Given the description of an element on the screen output the (x, y) to click on. 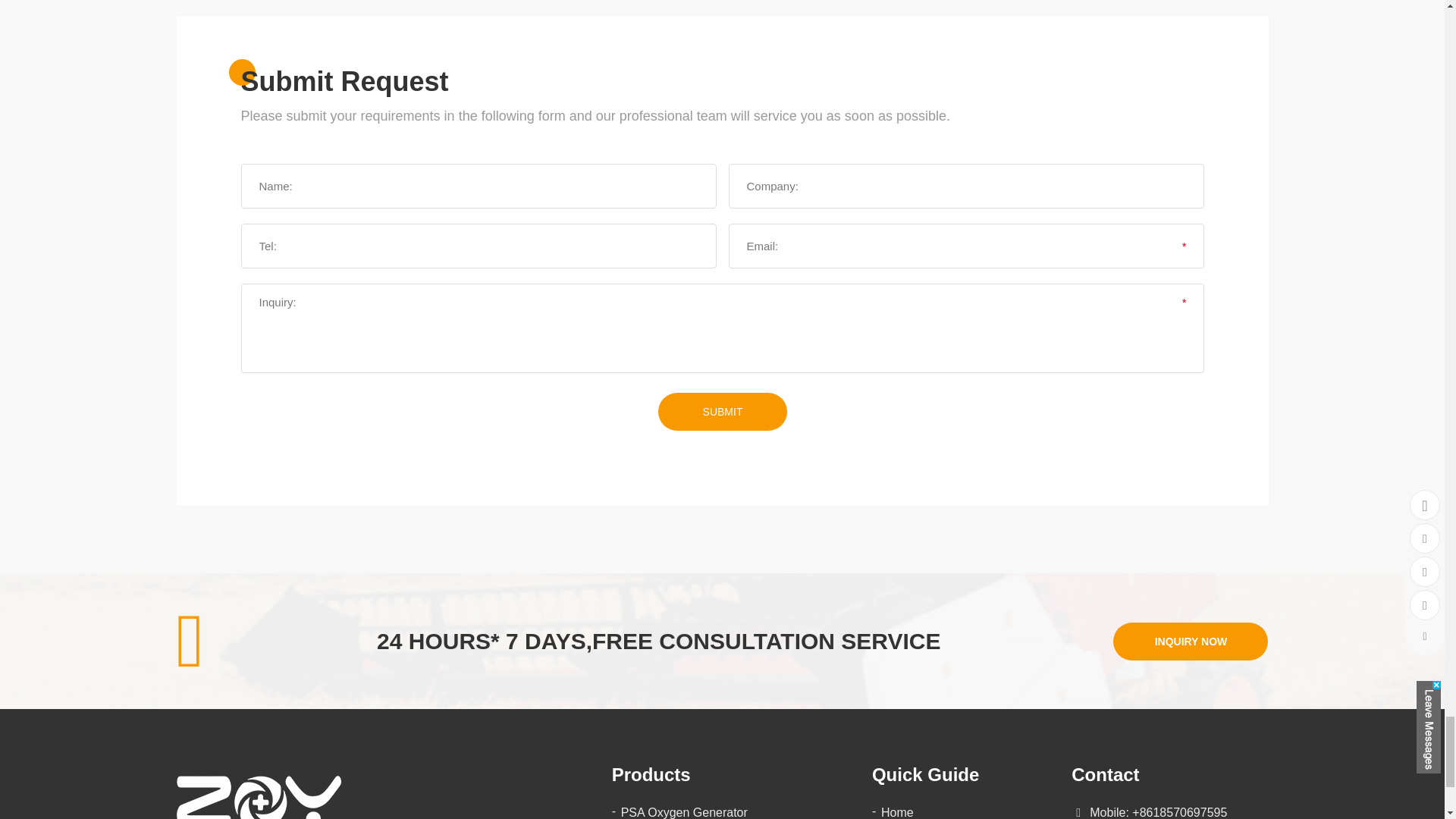
Hunan ZOY Medical Technology Co.,Ltd. (258, 800)
